Given the description of an element on the screen output the (x, y) to click on. 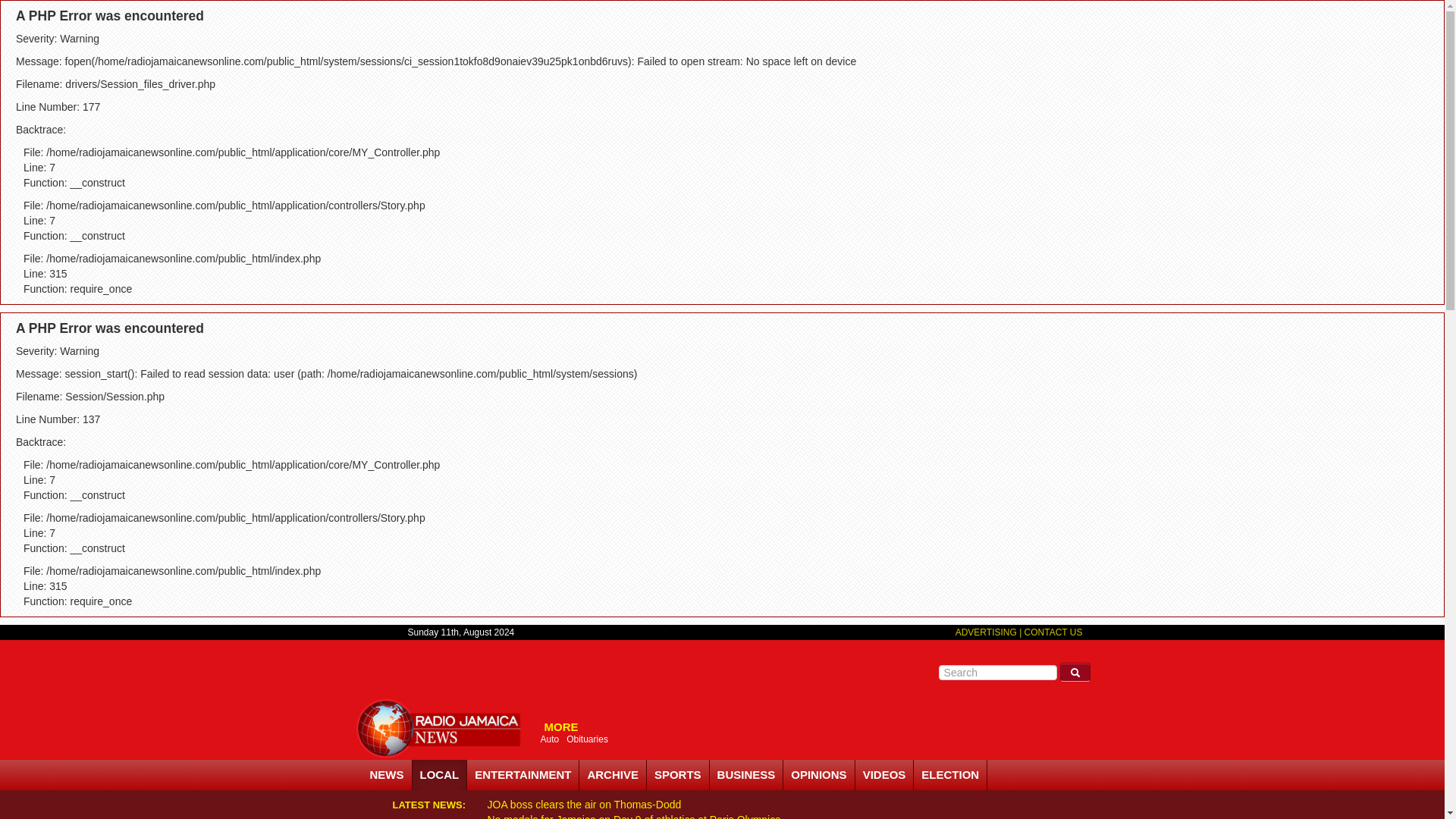
BUSINESS (747, 775)
Auto (549, 738)
JOA boss clears the air on Thomas-Dodd (583, 804)
ENTERTAINMENT (523, 775)
ELECTION (950, 775)
SPORTS (678, 775)
VIDEOS (885, 775)
Obituaries (587, 738)
CONTACT US (1054, 632)
